Given the description of an element on the screen output the (x, y) to click on. 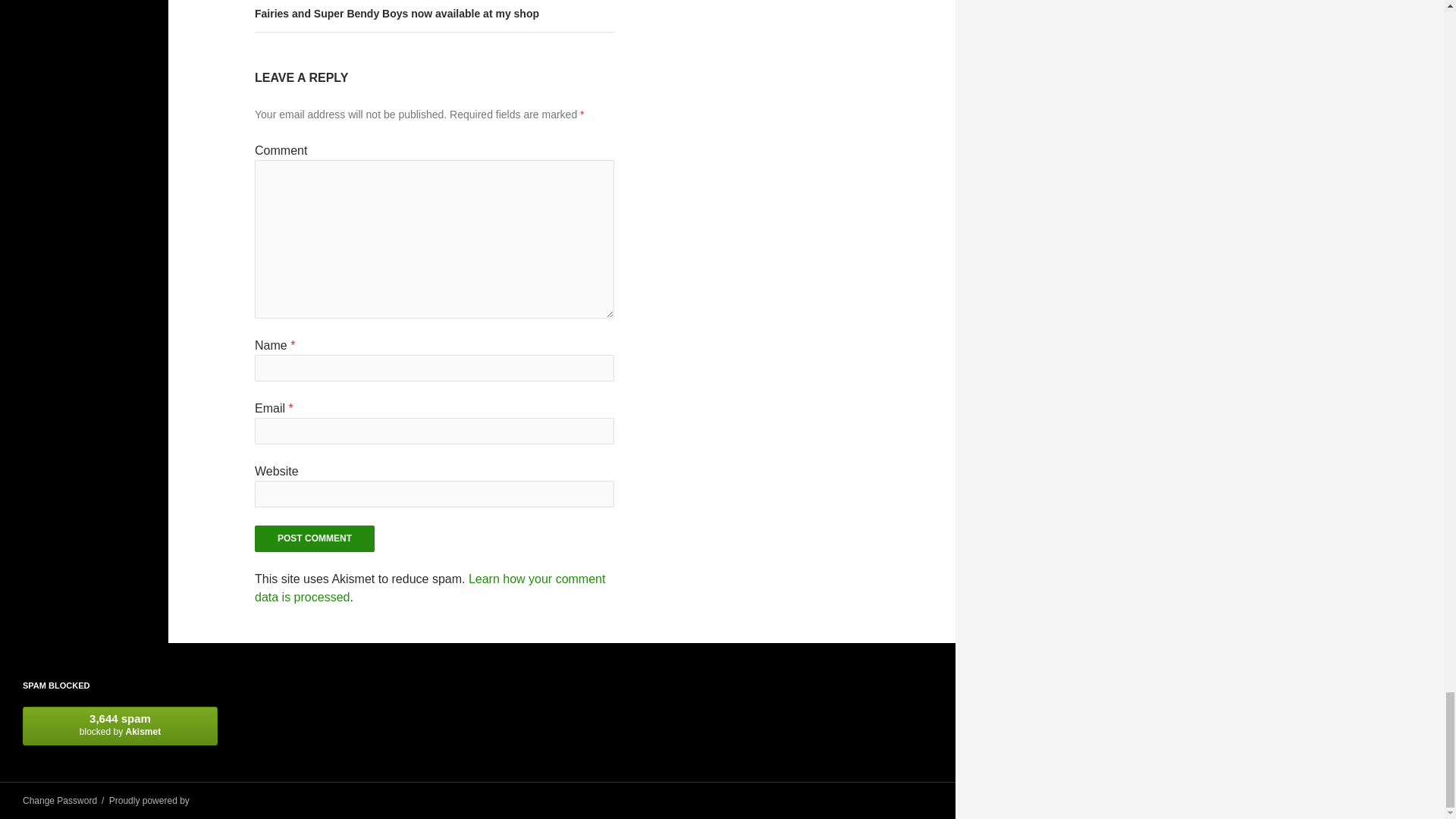
Learn how your comment data is processed (429, 587)
Post Comment (314, 538)
Post Comment (314, 538)
